Given the description of an element on the screen output the (x, y) to click on. 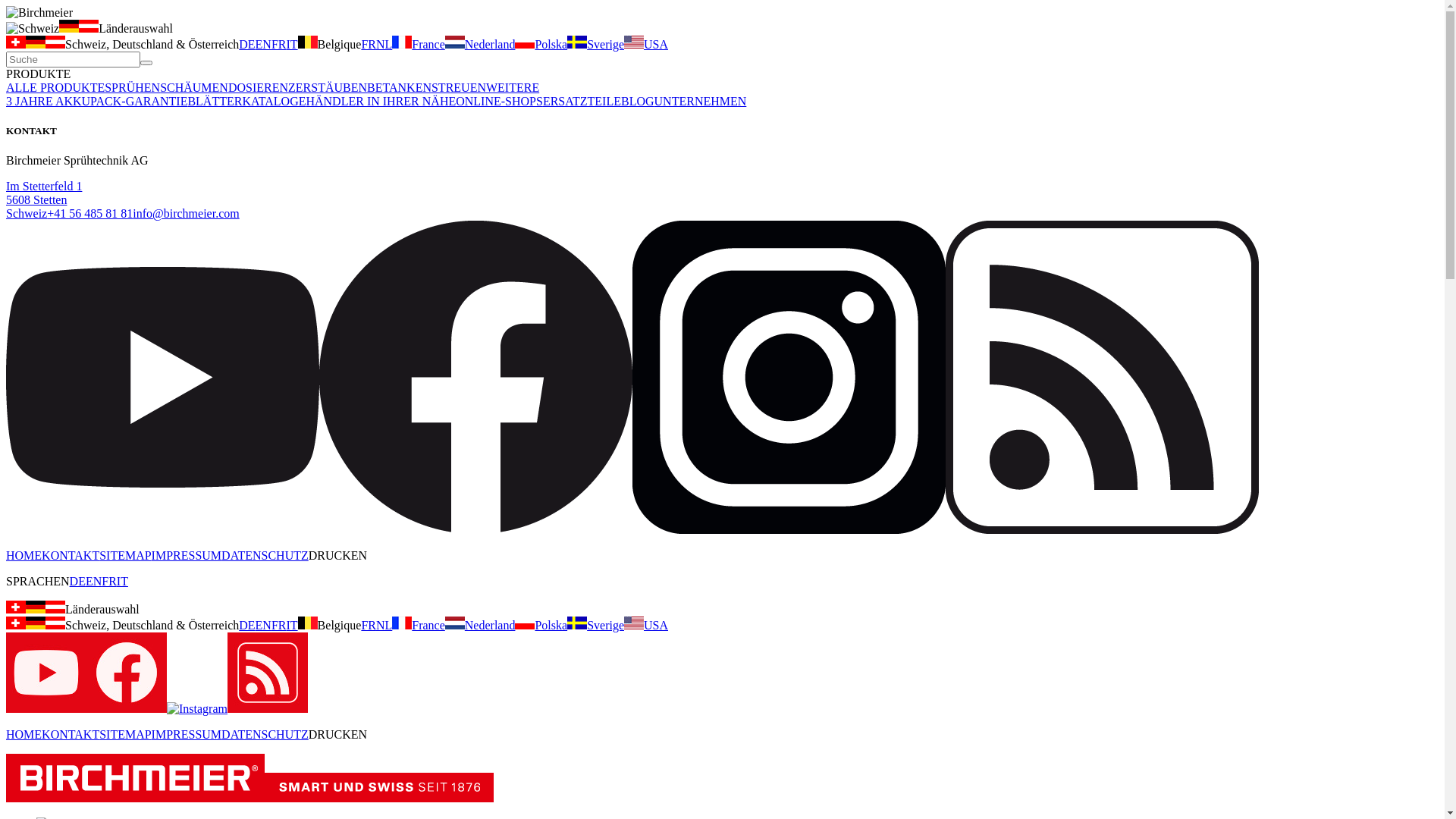
FR Element type: text (108, 580)
WEITERE Element type: text (512, 87)
3 JAHRE AKKUPACK-GARANTIE Element type: text (96, 100)
NL Element type: text (384, 624)
USA Element type: text (646, 624)
info@birchmeier.com Element type: text (185, 213)
KONTAKT Element type: text (70, 555)
KONTAKT Element type: text (70, 734)
UNTERNEHMEN Element type: text (700, 100)
France Element type: text (418, 624)
Nederland Element type: text (480, 43)
EN Element type: text (93, 580)
Im Stetterfeld 1
5608 Stetten
Schweiz Element type: text (43, 199)
IMPRESSUM Element type: text (186, 555)
DRUCKEN Element type: text (337, 734)
NL Element type: text (384, 43)
SITEMAP Element type: text (124, 734)
Nederland Element type: text (480, 624)
EN Element type: text (263, 43)
France Element type: text (418, 43)
HOME Element type: text (23, 555)
HOME Element type: text (23, 734)
FR Element type: text (278, 624)
FR Element type: text (368, 624)
DE Element type: text (77, 580)
Sverige Element type: text (595, 624)
USA Element type: text (646, 43)
DRUCKEN Element type: text (337, 555)
Polska Element type: text (540, 624)
SITEMAP Element type: text (124, 555)
DE Element type: text (246, 43)
ONLINE-SHOPS Element type: text (498, 100)
FR Element type: text (368, 43)
DATENSCHUTZ Element type: text (264, 734)
DOSIEREN Element type: text (258, 87)
+41 56 485 81 81 Element type: text (89, 213)
DATENSCHUTZ Element type: text (264, 555)
Polska Element type: text (540, 43)
DE Element type: text (246, 624)
IT Element type: text (292, 624)
ALLE PRODUKTE Element type: text (55, 87)
BETANKEN Element type: text (399, 87)
STREUEN Element type: text (458, 87)
IMPRESSUM Element type: text (186, 734)
BLOG Element type: text (637, 100)
ERSATZTEILE Element type: text (581, 100)
IT Element type: text (292, 43)
EN Element type: text (263, 624)
FR Element type: text (278, 43)
PRODUKTE Element type: text (38, 73)
IT Element type: text (122, 580)
Sverige Element type: text (595, 43)
